Given the description of an element on the screen output the (x, y) to click on. 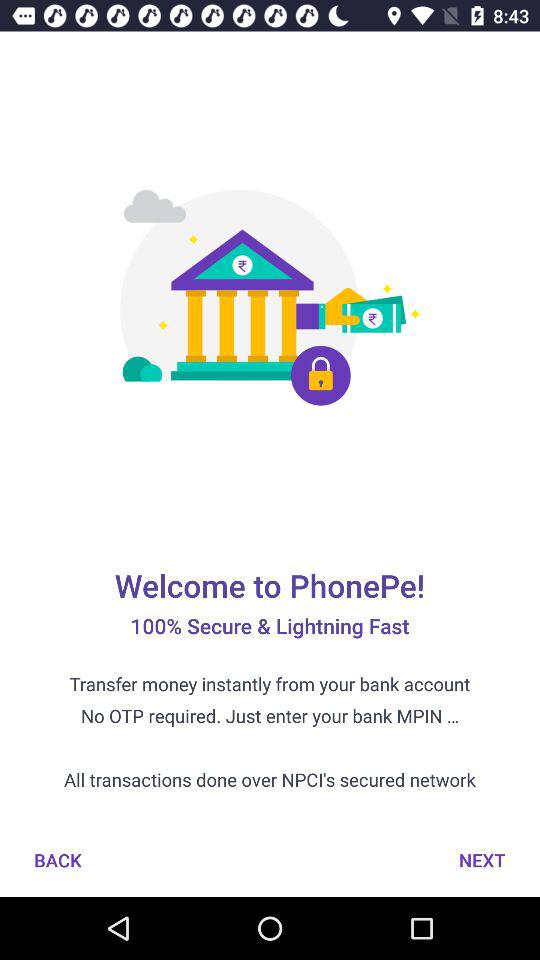
press next at the bottom right corner (482, 859)
